Given the description of an element on the screen output the (x, y) to click on. 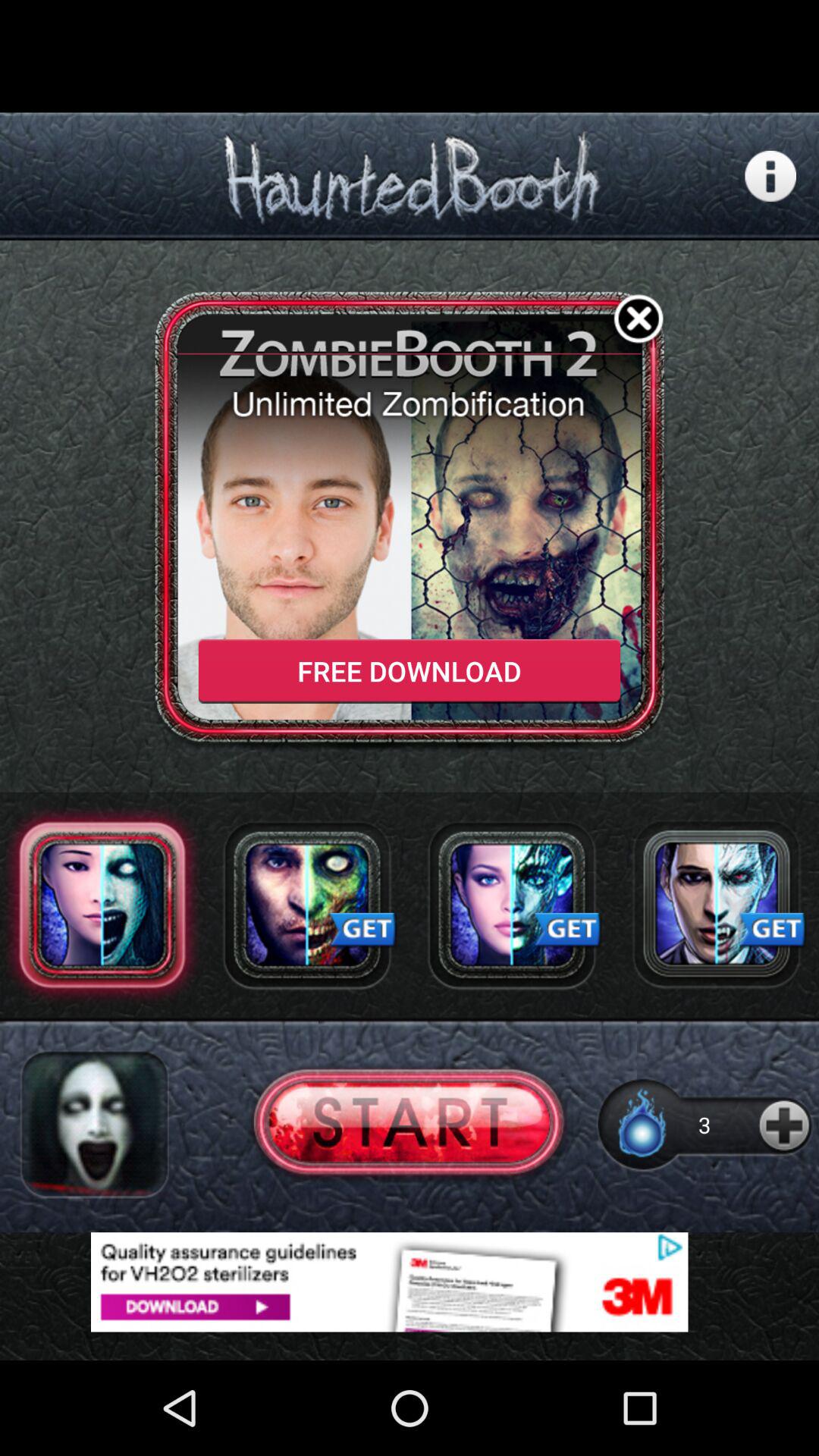
press button to get app/functionality (716, 904)
